Given the description of an element on the screen output the (x, y) to click on. 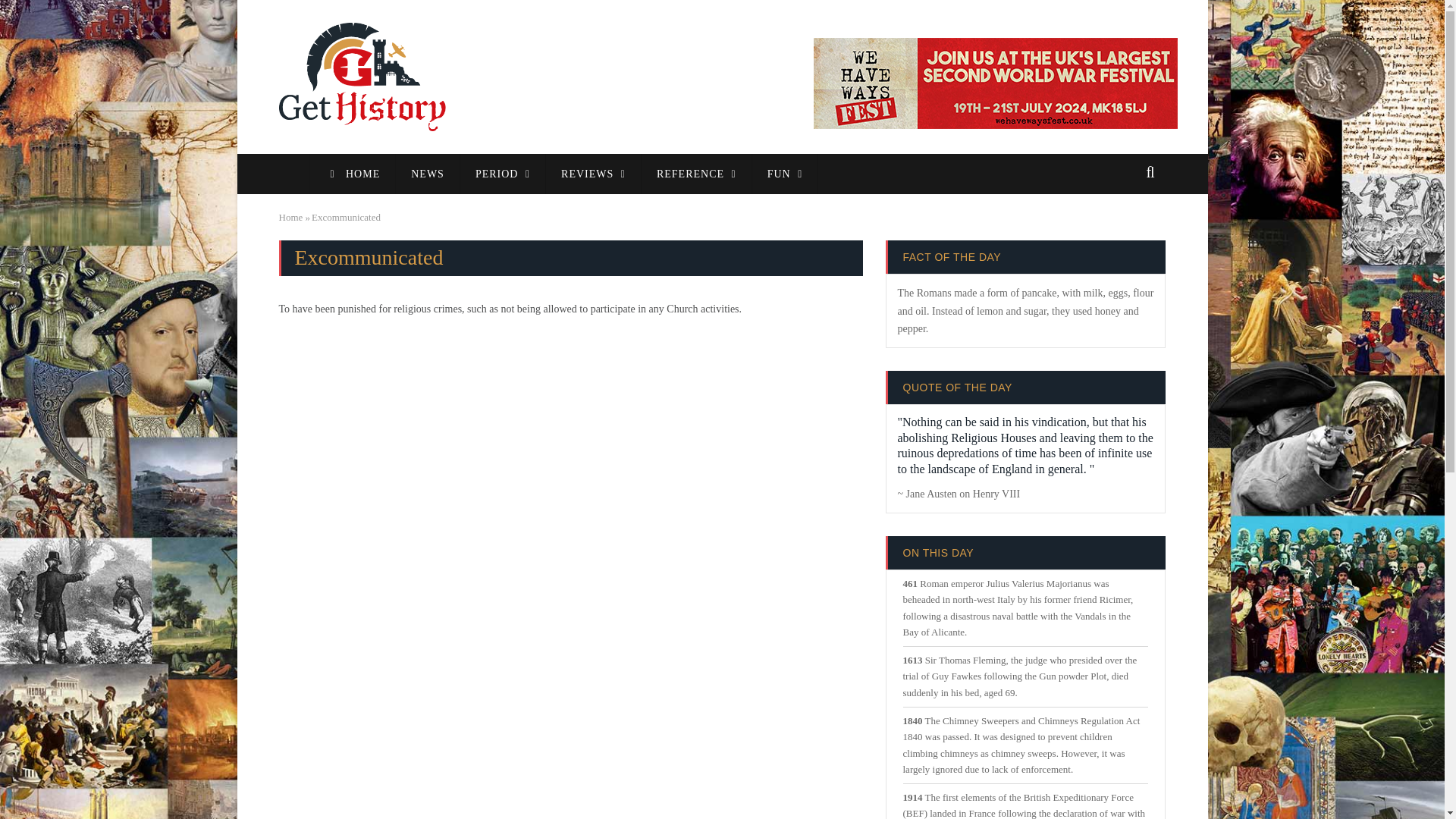
FUN (785, 173)
REVIEWS (594, 173)
Home (290, 216)
HOME (352, 173)
NEWS (428, 173)
PERIOD (503, 173)
REFERENCE (697, 173)
Home (362, 75)
